Given the description of an element on the screen output the (x, y) to click on. 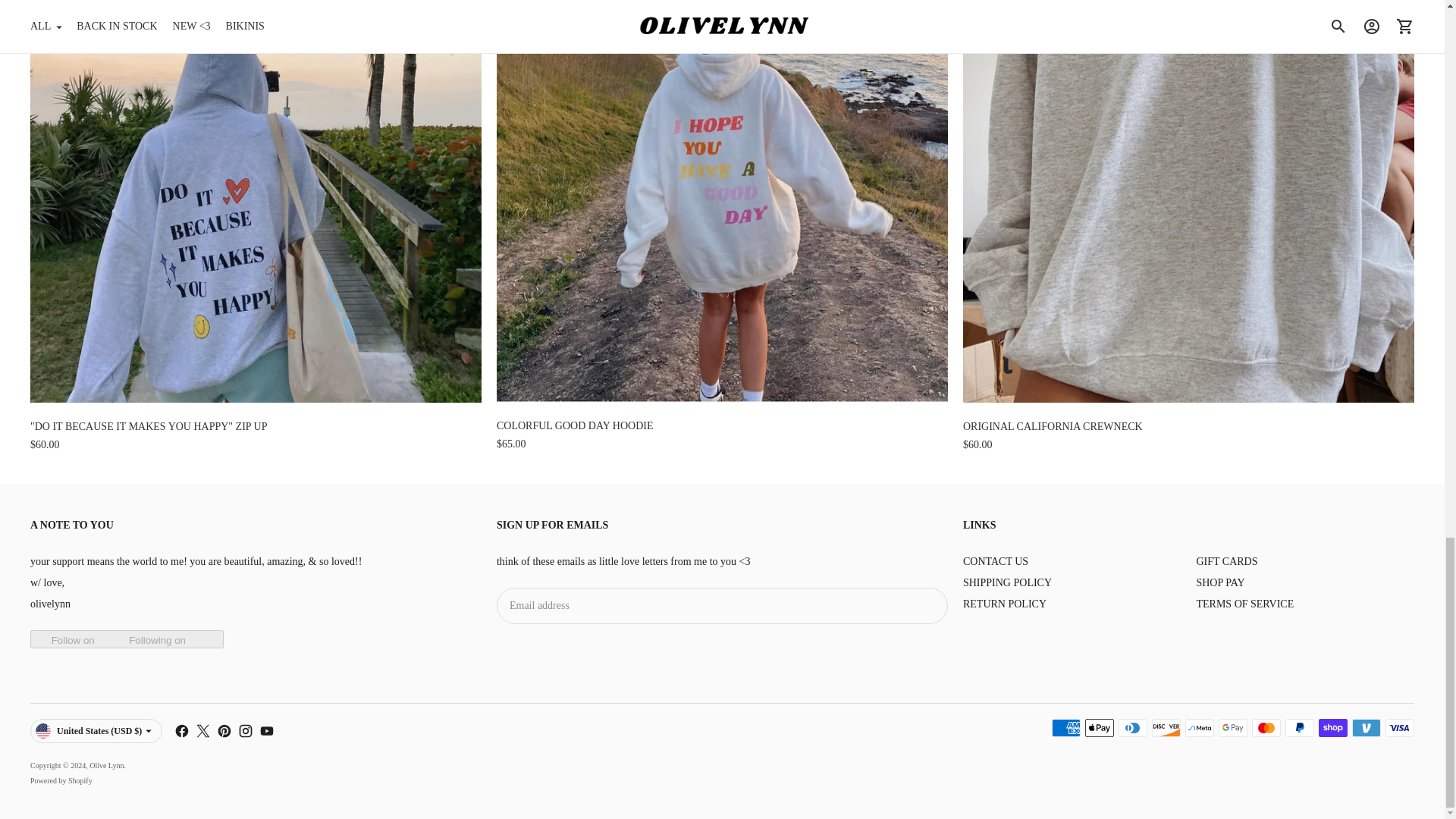
Olive Lynn on Facebook (181, 730)
Olive Lynn on Pinterest (223, 730)
Olive Lynn on YouTube (267, 730)
Olive Lynn on Twitter (203, 730)
Olive Lynn on Instagram (245, 730)
